Given the description of an element on the screen output the (x, y) to click on. 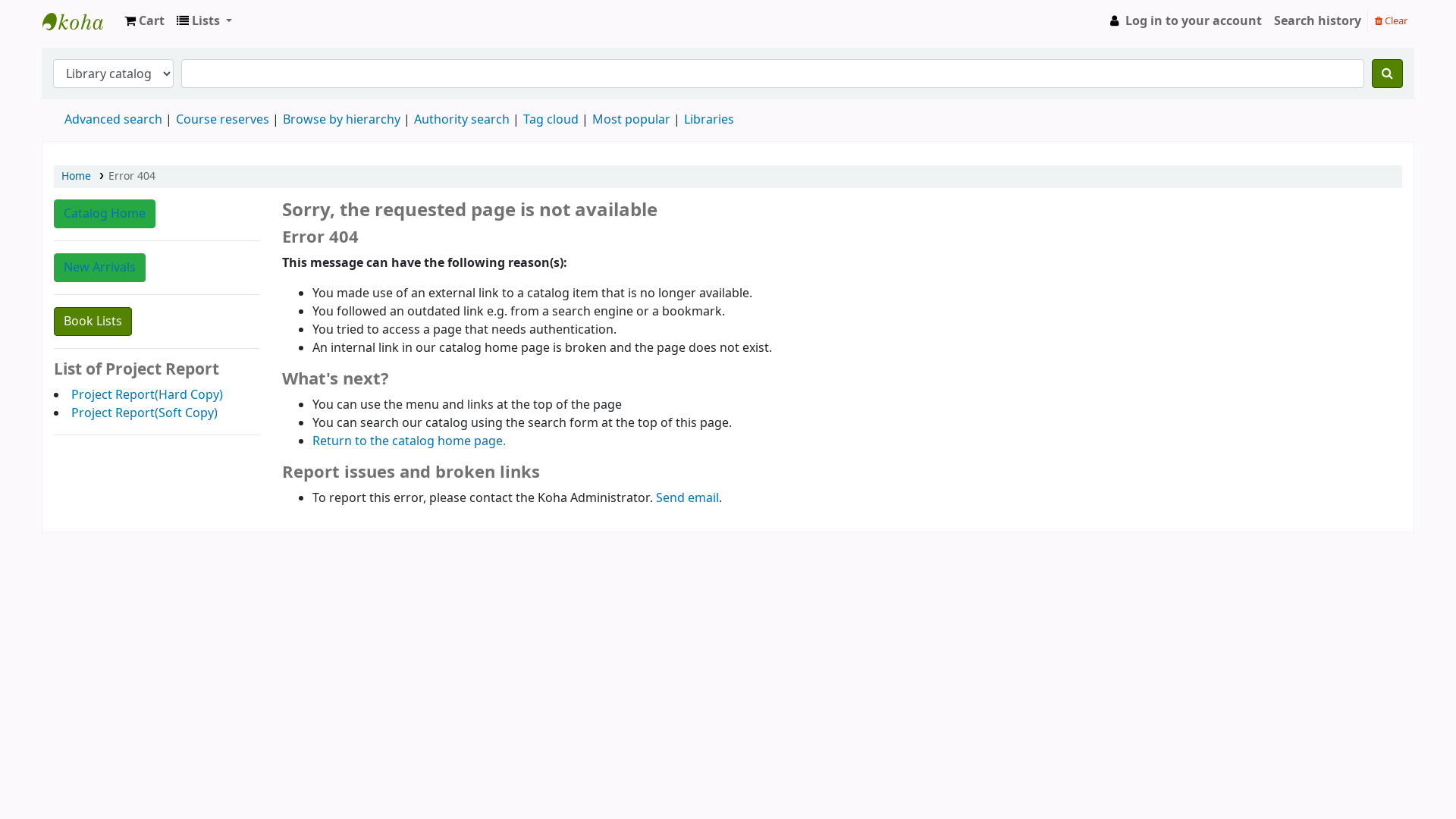
Search history Element type: text (1317, 21)
Project Report(Soft Copy) Element type: text (144, 413)
Daffodil International University Library Element type: text (80, 21)
Log in to your account Element type: text (1183, 21)
Home Element type: text (76, 176)
Browse by hierarchy Element type: text (341, 119)
Advanced search Element type: text (113, 119)
Catalog Home Element type: text (104, 213)
Authority search Element type: text (461, 119)
Cart Element type: text (144, 21)
Book Lists Element type: text (92, 321)
Most popular Element type: text (631, 119)
Lists Element type: text (204, 21)
Return to the catalog home page. Element type: text (408, 441)
Error 404 Element type: text (131, 176)
New Arrivals Element type: text (99, 267)
Send email Element type: text (686, 498)
Clear Element type: text (1390, 20)
Libraries Element type: text (709, 119)
Search Element type: hover (1386, 73)
Tag cloud Element type: text (550, 119)
Project Report(Hard Copy) Element type: text (146, 394)
Course reserves Element type: text (222, 119)
